Given the description of an element on the screen output the (x, y) to click on. 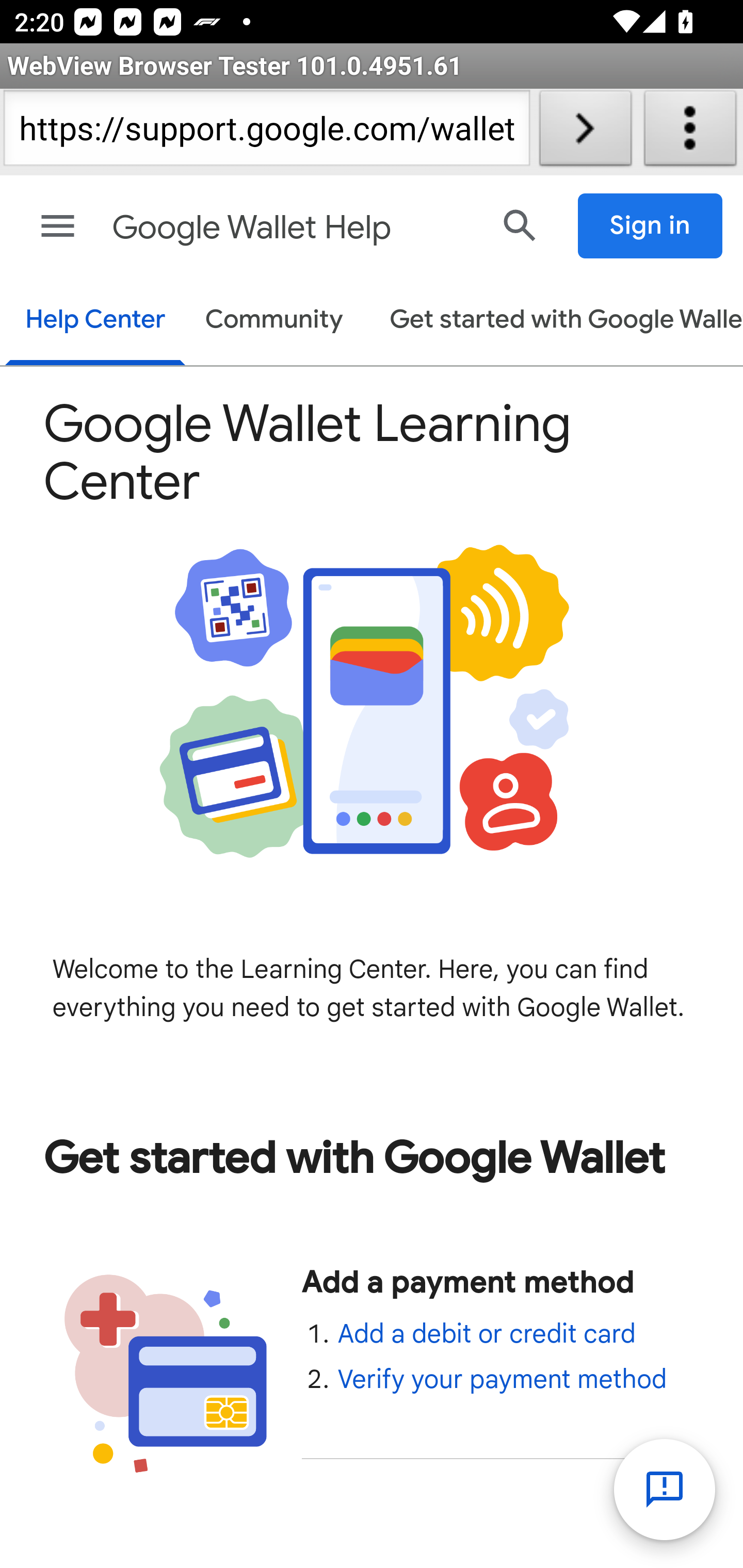
Load URL (585, 132)
About WebView (690, 132)
Main menu (58, 226)
Google Wallet Help (292, 227)
Search Help Center (519, 225)
Sign in (650, 226)
Help Center (94, 320)
Community (274, 320)
Get started with Google Wallet (555, 320)
Add a debit or credit card (486, 1334)
Verify your payment method (501, 1378)
